Given the description of an element on the screen output the (x, y) to click on. 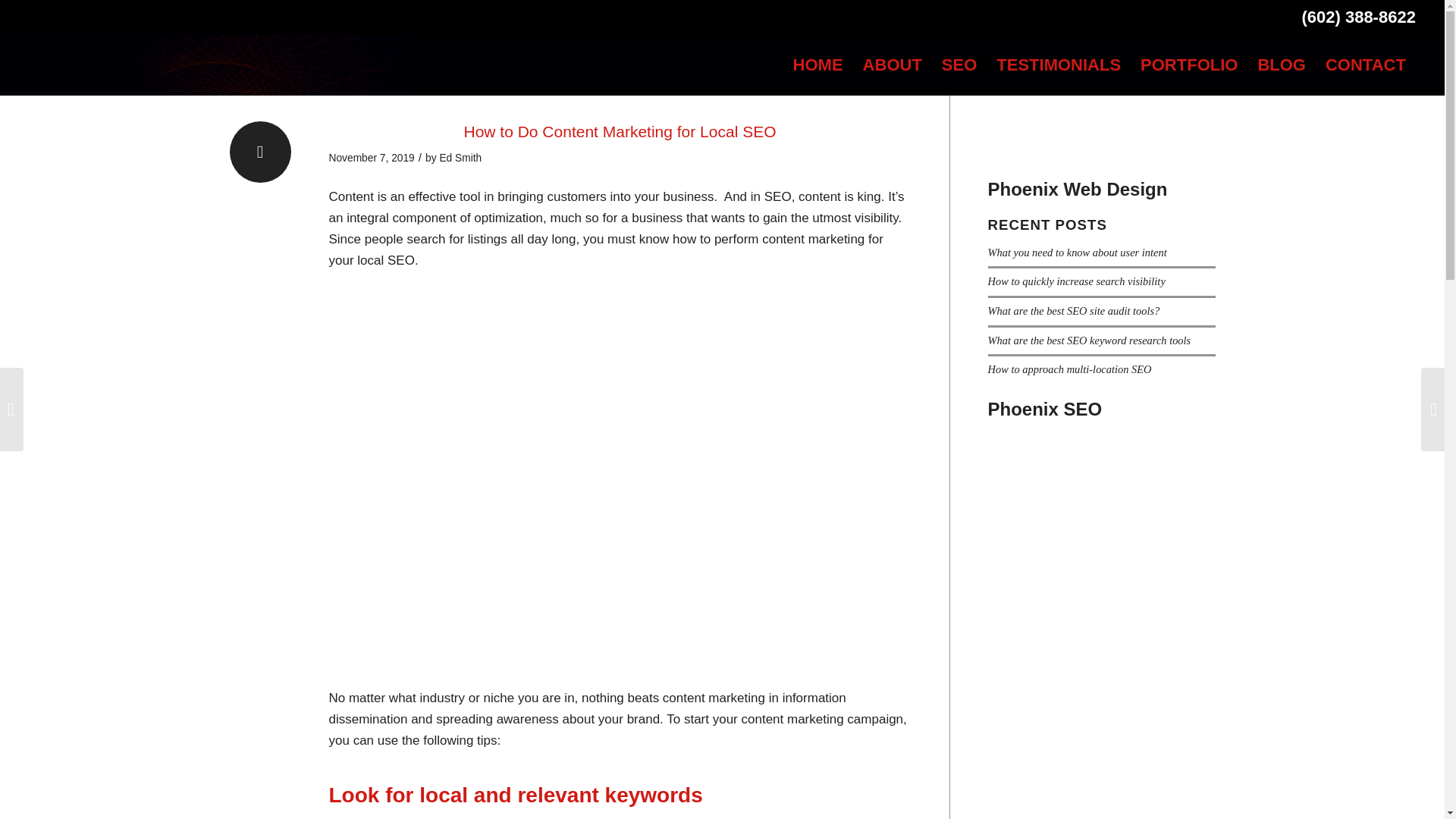
What are the best SEO keyword research tools (1089, 340)
How to quickly increase search visibility (1075, 281)
SEO (959, 65)
Posts by Ed Smith (460, 157)
Phoenix SEO (1044, 408)
CONTACT (1365, 65)
HOME (818, 65)
Permanent Link: How to Do Content Marketing for Local SEO (619, 131)
TESTIMONIALS (1059, 65)
How to Do Content Marketing for Local SEO (619, 131)
How to approach multi-location SEO (1069, 369)
PORTFOLIO (1189, 65)
What you need to know about user intent (1076, 252)
BLOG (1281, 65)
ABOUT (892, 65)
